Given the description of an element on the screen output the (x, y) to click on. 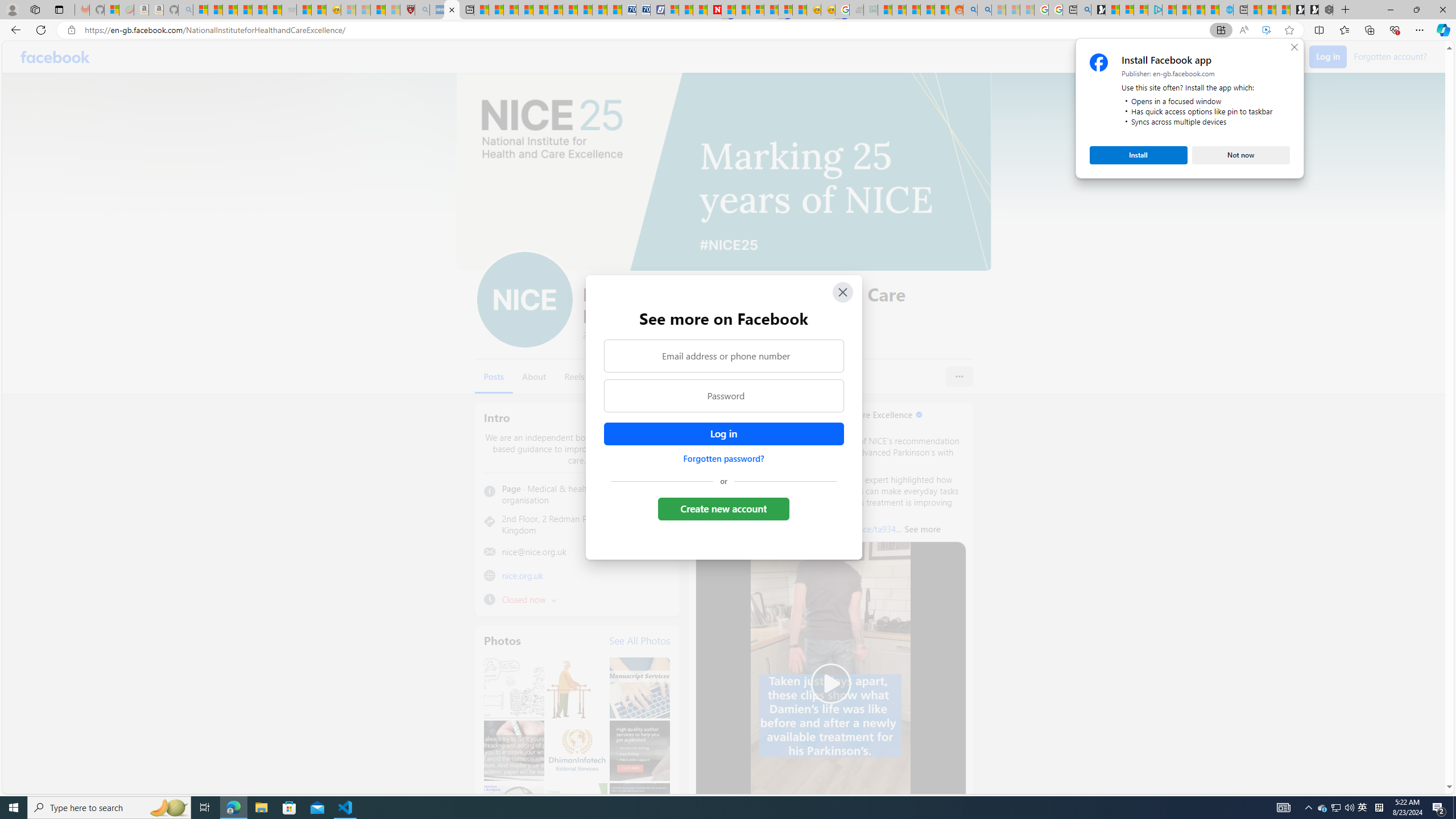
Facebook (55, 56)
Science - MSN (377, 9)
Create new account (724, 508)
14 Common Myths Debunked By Scientific Facts (742, 9)
